Given the description of an element on the screen output the (x, y) to click on. 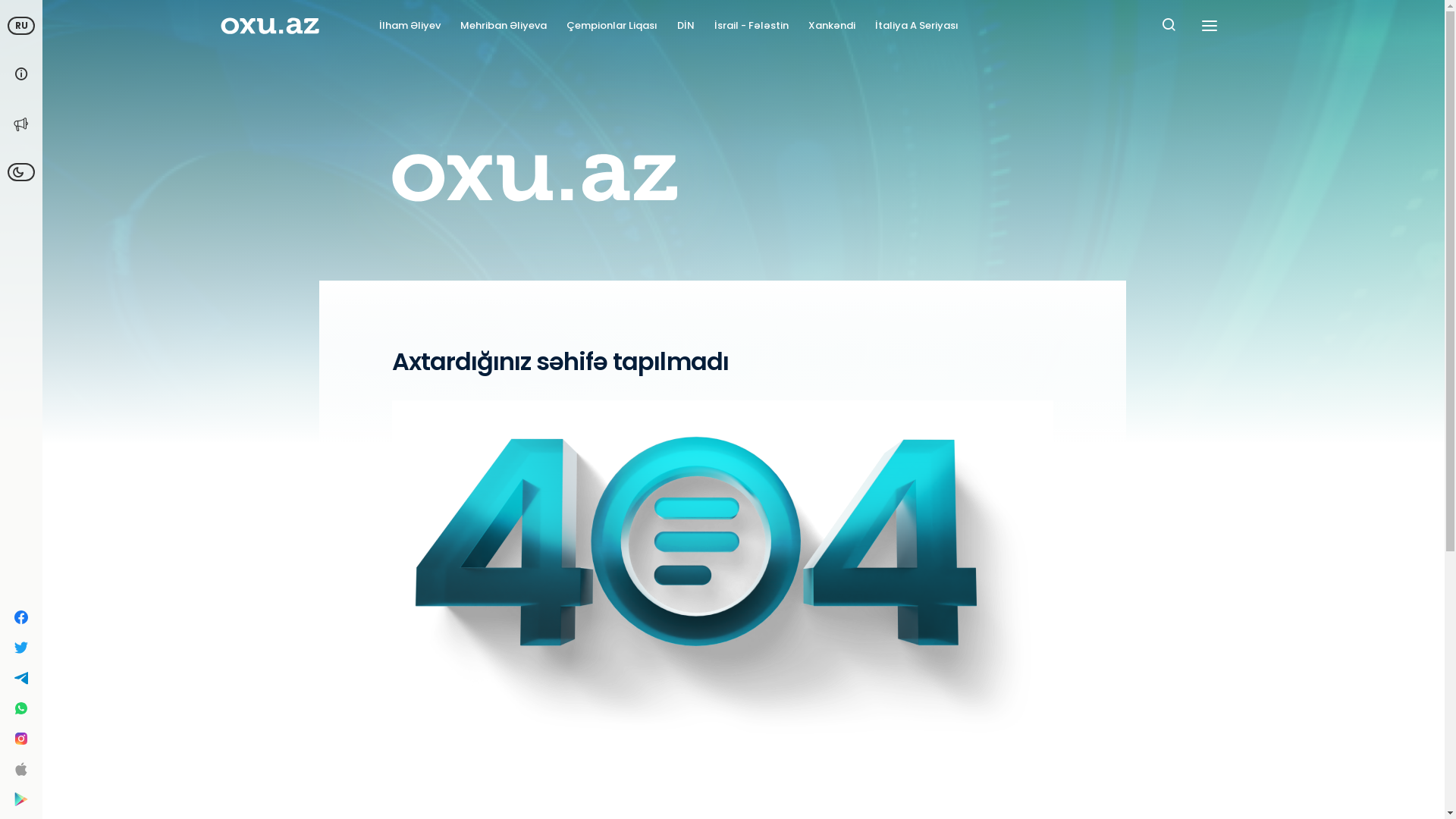
RU Element type: text (20, 25)
